Given the description of an element on the screen output the (x, y) to click on. 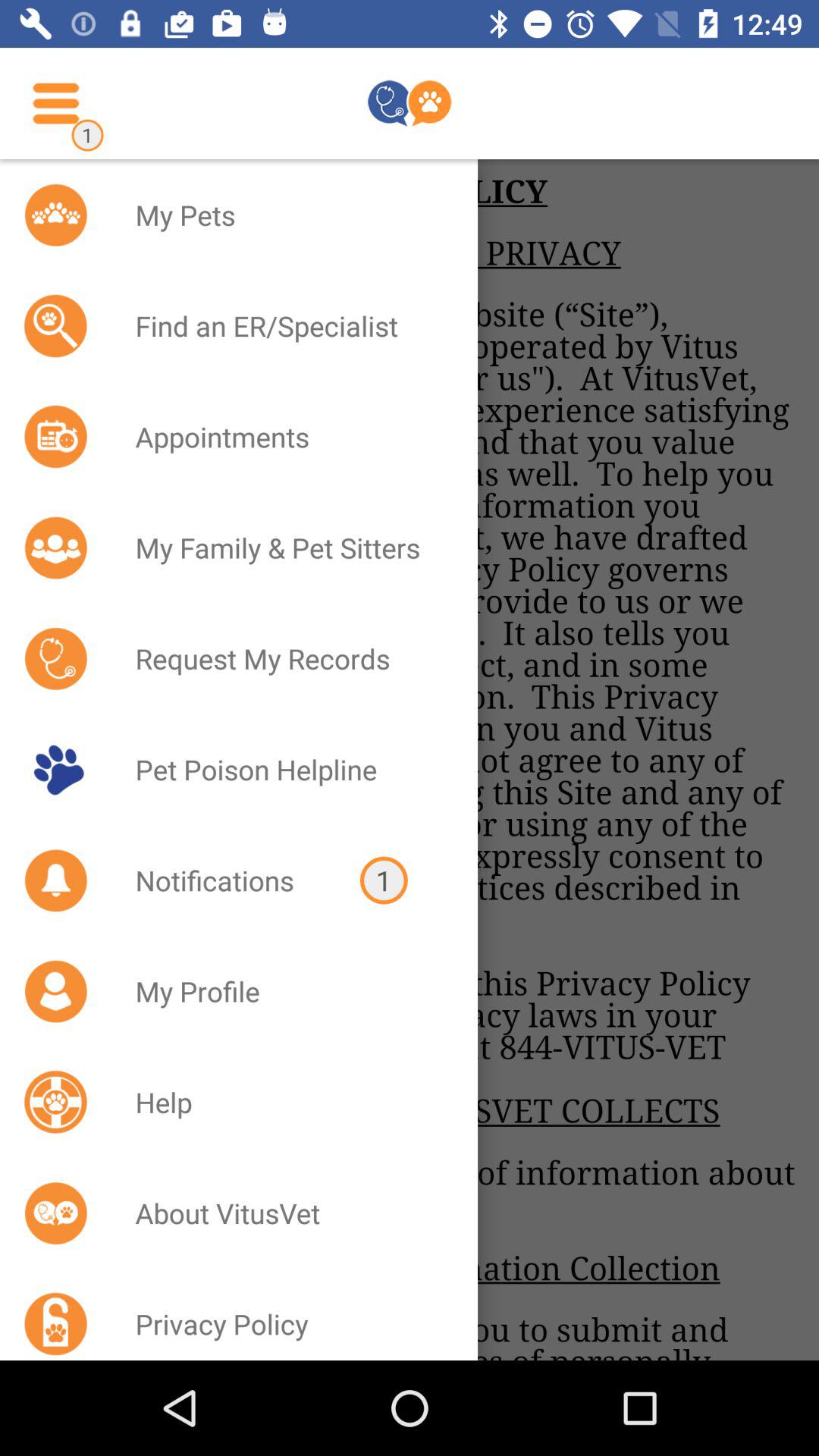
jump until the request my records (286, 658)
